Given the description of an element on the screen output the (x, y) to click on. 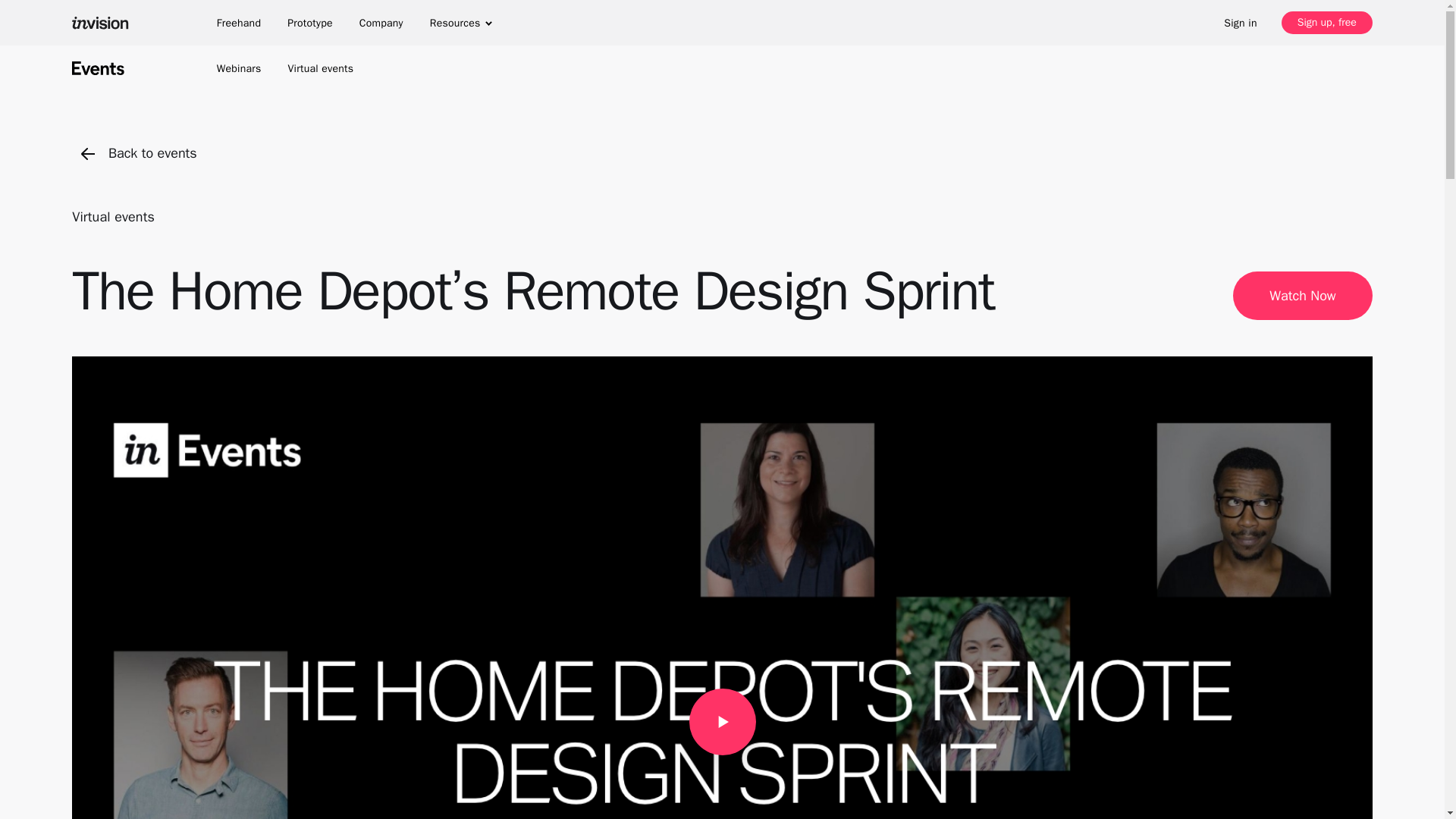
Watch Now (1302, 295)
Freehand (238, 22)
company (381, 22)
Company (381, 22)
Events (97, 68)
resources (461, 22)
Webinars (239, 67)
prototype (309, 22)
Resources (461, 22)
Virtual events (112, 217)
Back to events (138, 153)
Sign up, free (1327, 22)
invisionapp, inc. (105, 22)
Sign in (1240, 22)
Prototype (309, 22)
